Given the description of an element on the screen output the (x, y) to click on. 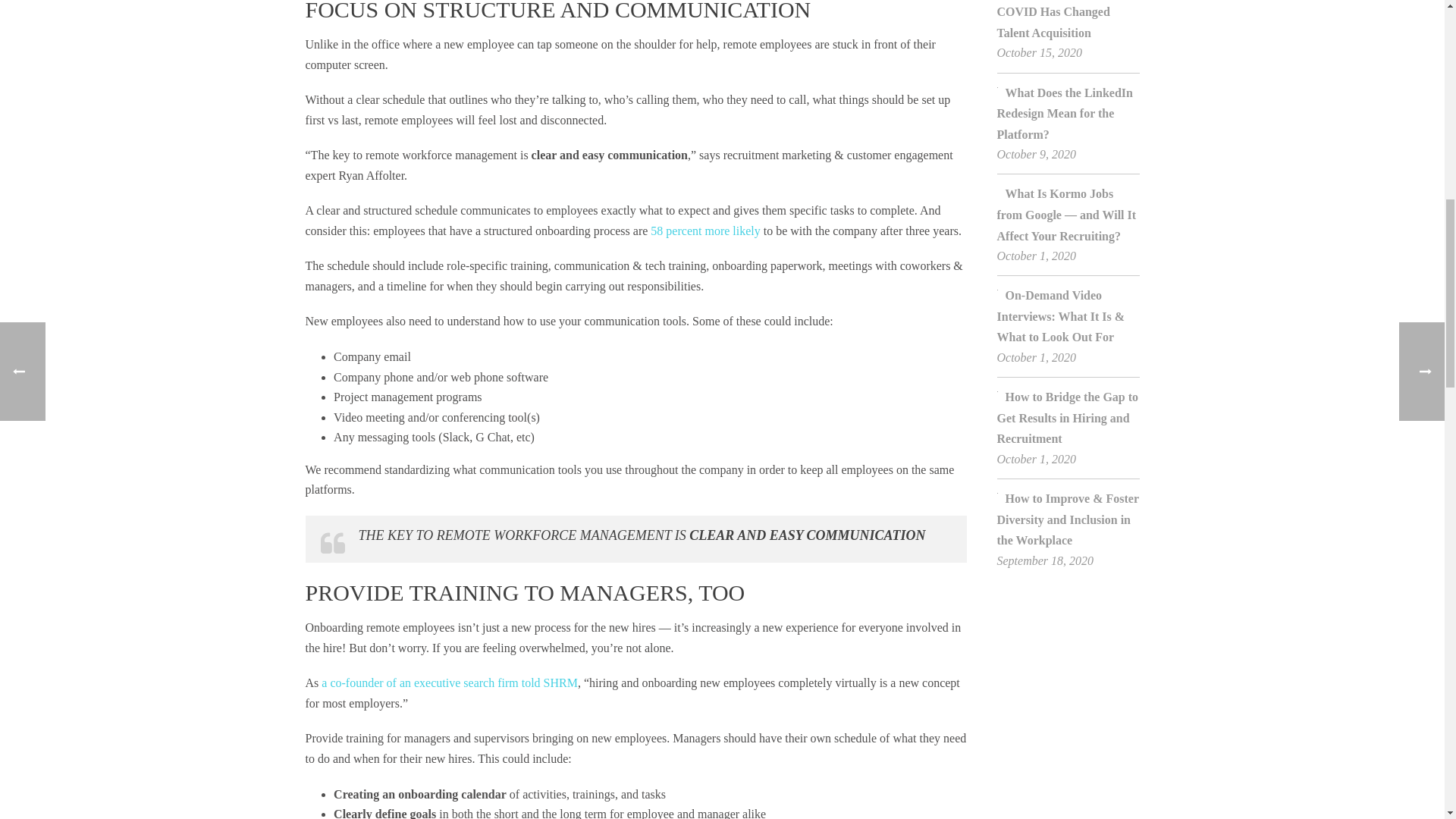
a co-founder of an executive search firm told SHRM (449, 682)
58 percent more likely (705, 230)
